Given the description of an element on the screen output the (x, y) to click on. 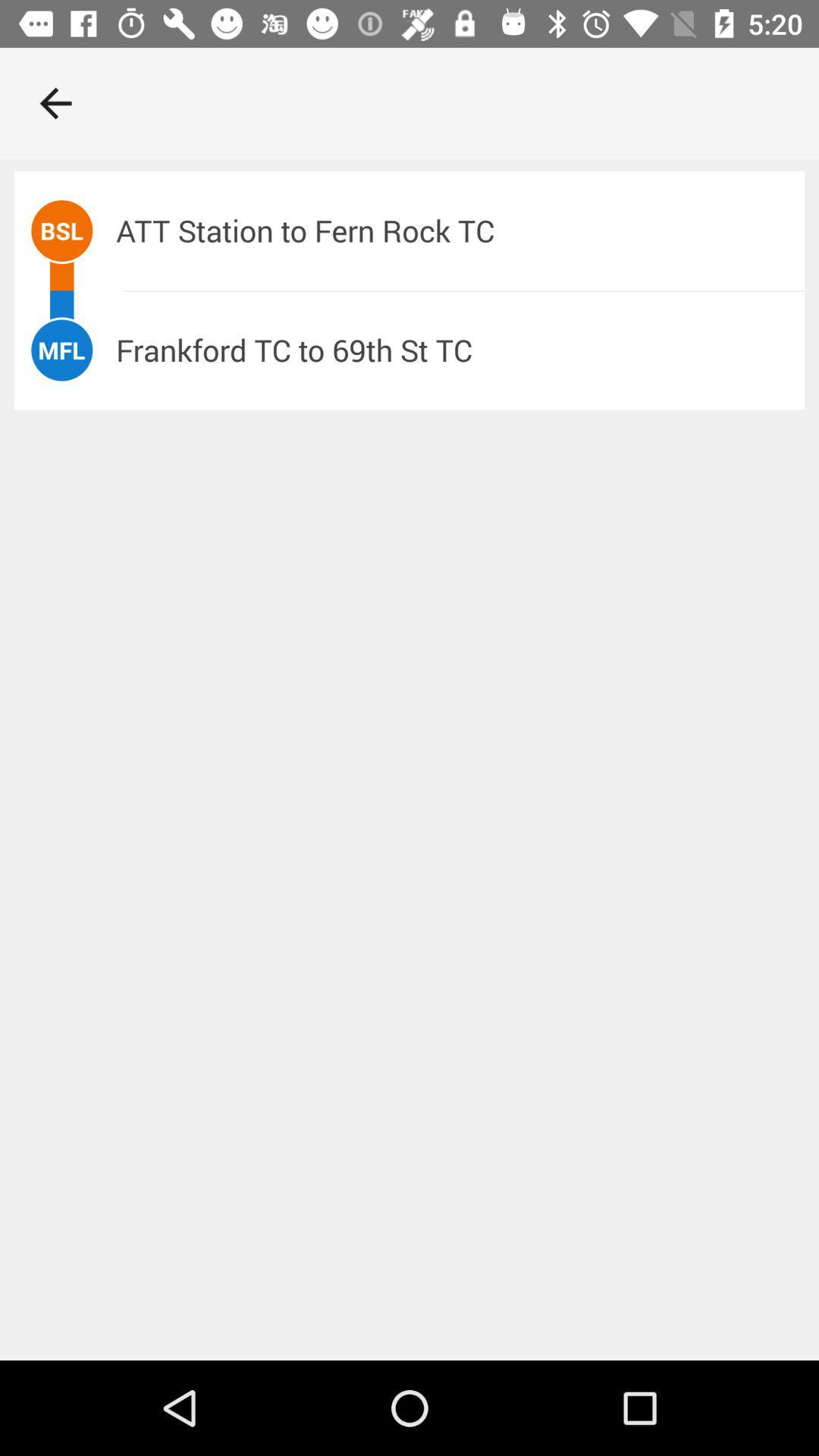
jump until the bsl (61, 230)
